Given the description of an element on the screen output the (x, y) to click on. 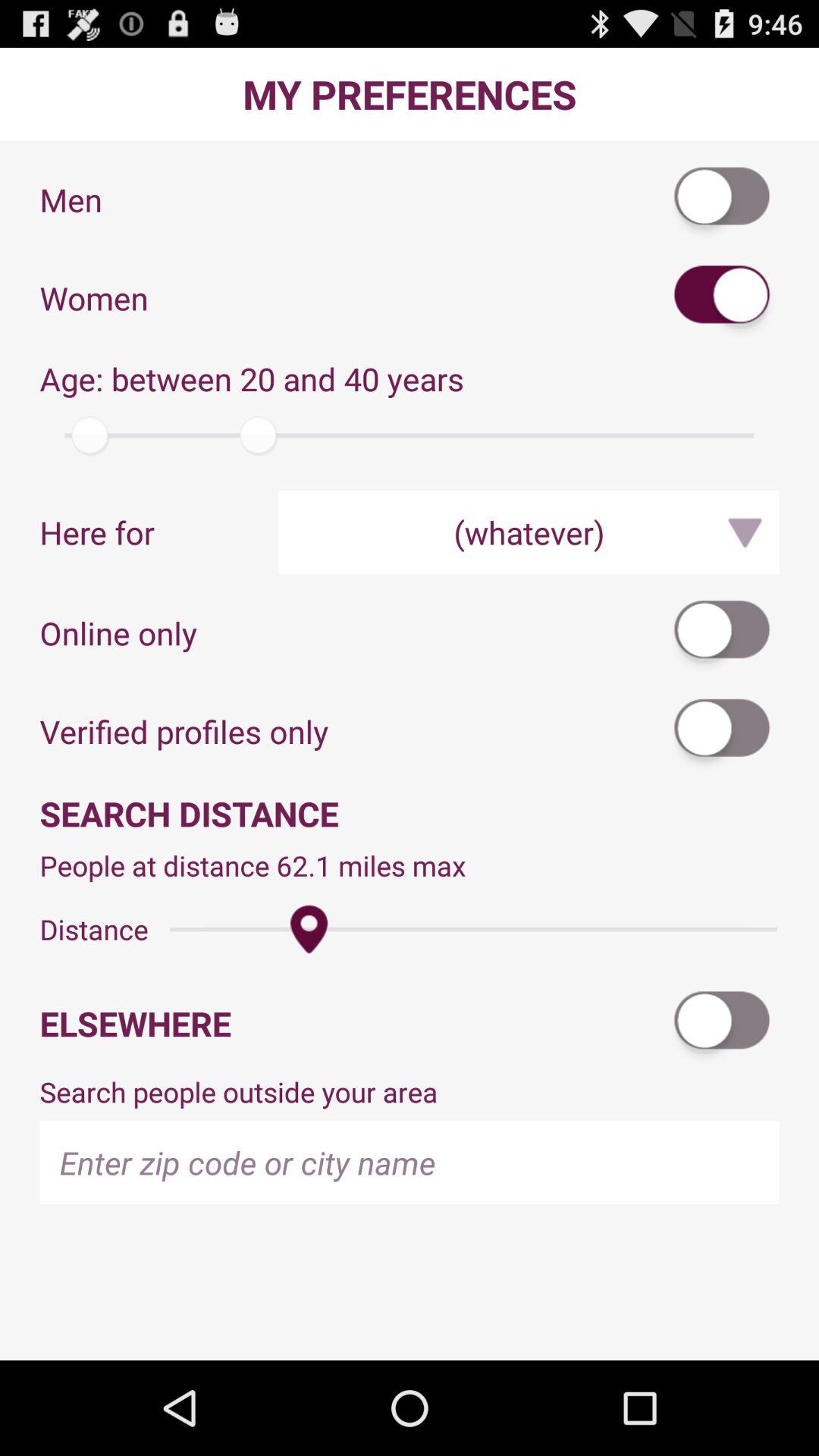
jump to elsewhere app (352, 1023)
